Given the description of an element on the screen output the (x, y) to click on. 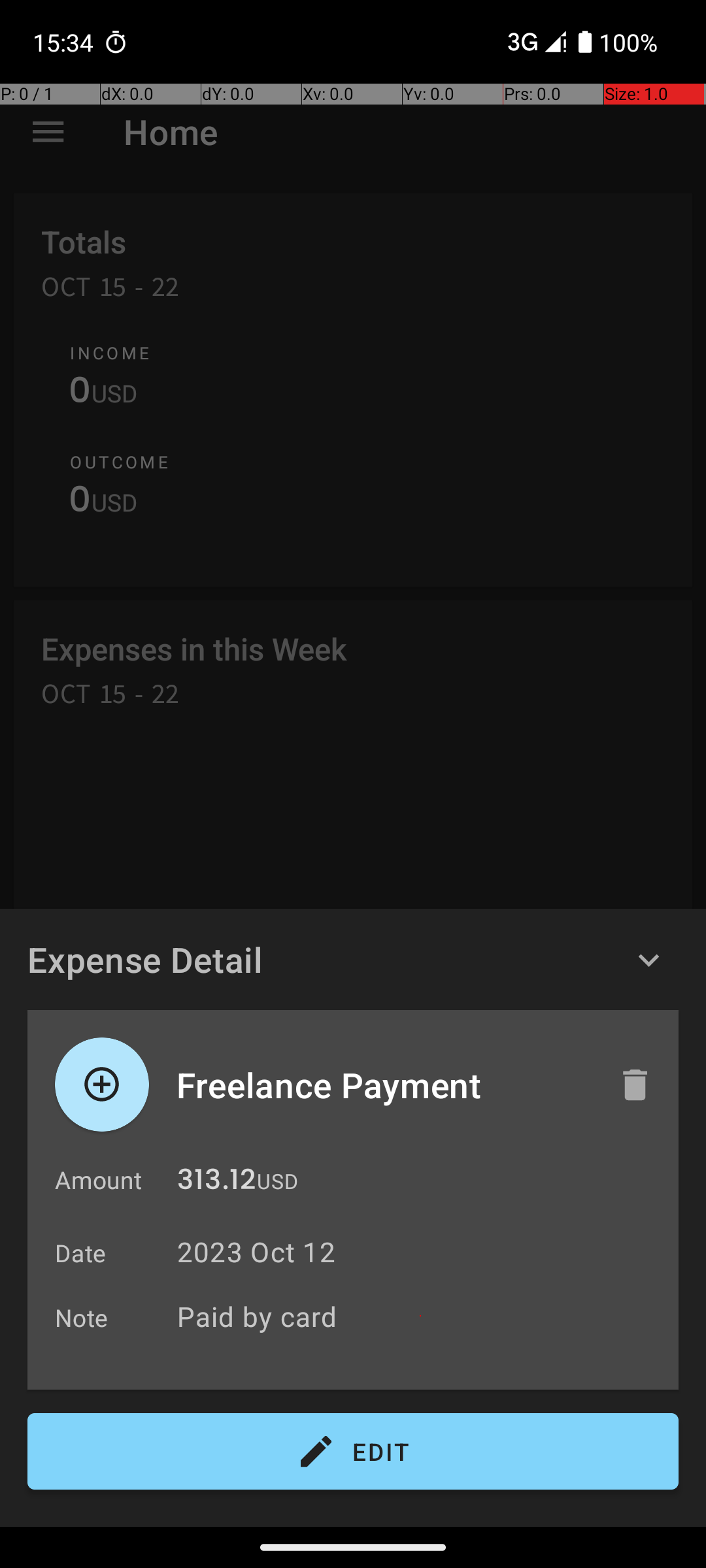
Freelance Payment Element type: android.widget.TextView (383, 1084)
313.12 Element type: android.widget.TextView (216, 1182)
2023 Oct 12 Element type: android.widget.TextView (256, 1251)
Paid by card Element type: android.widget.TextView (420, 1315)
